Given the description of an element on the screen output the (x, y) to click on. 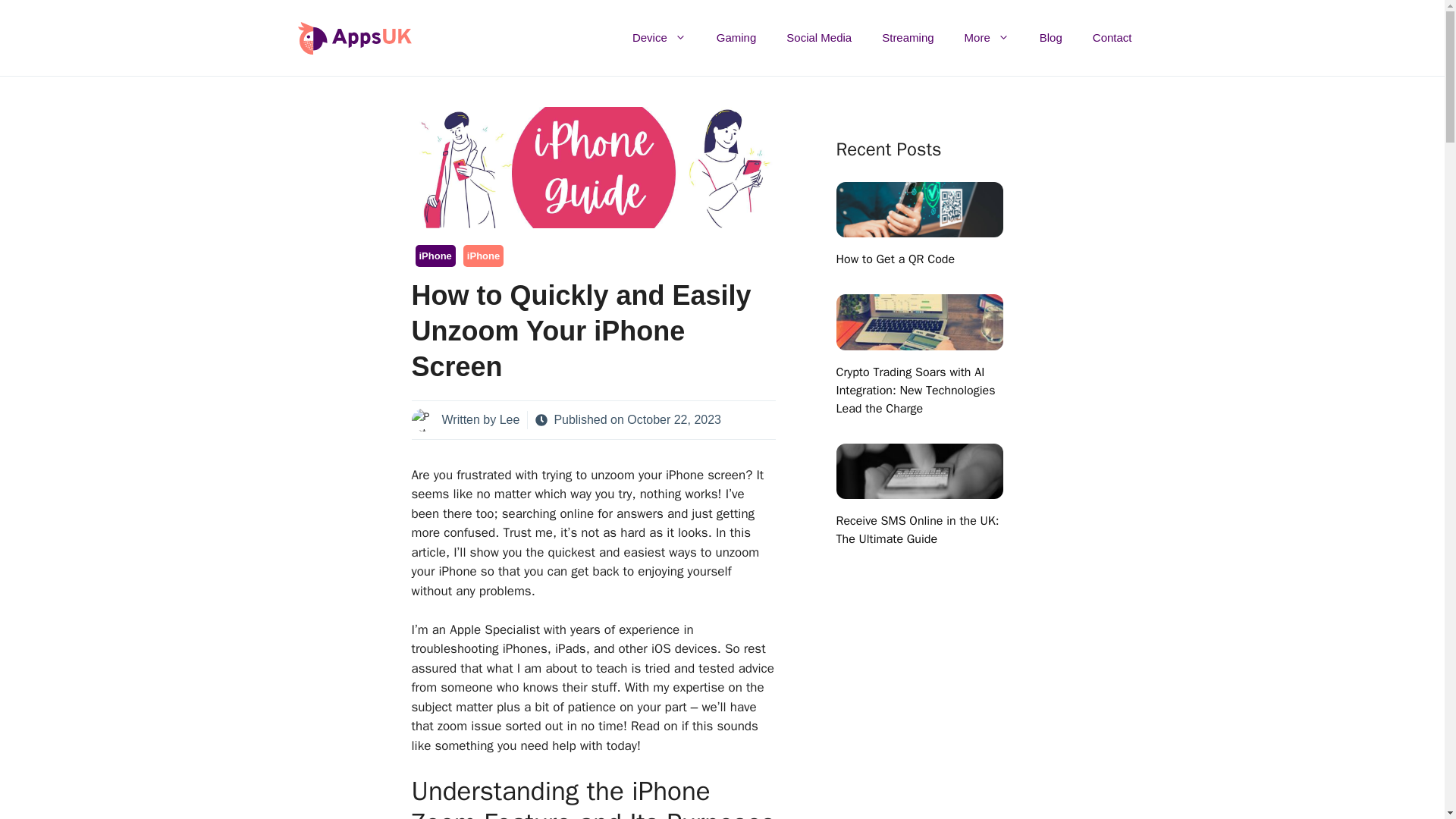
Gaming (736, 37)
iPhone (483, 255)
Receive SMS Online in the UK: The Ultimate Guide (919, 489)
Streaming (907, 37)
Contact (1112, 37)
Social Media (818, 37)
Blog (1051, 37)
Lee (509, 419)
How to Get a QR Code (895, 258)
